Given the description of an element on the screen output the (x, y) to click on. 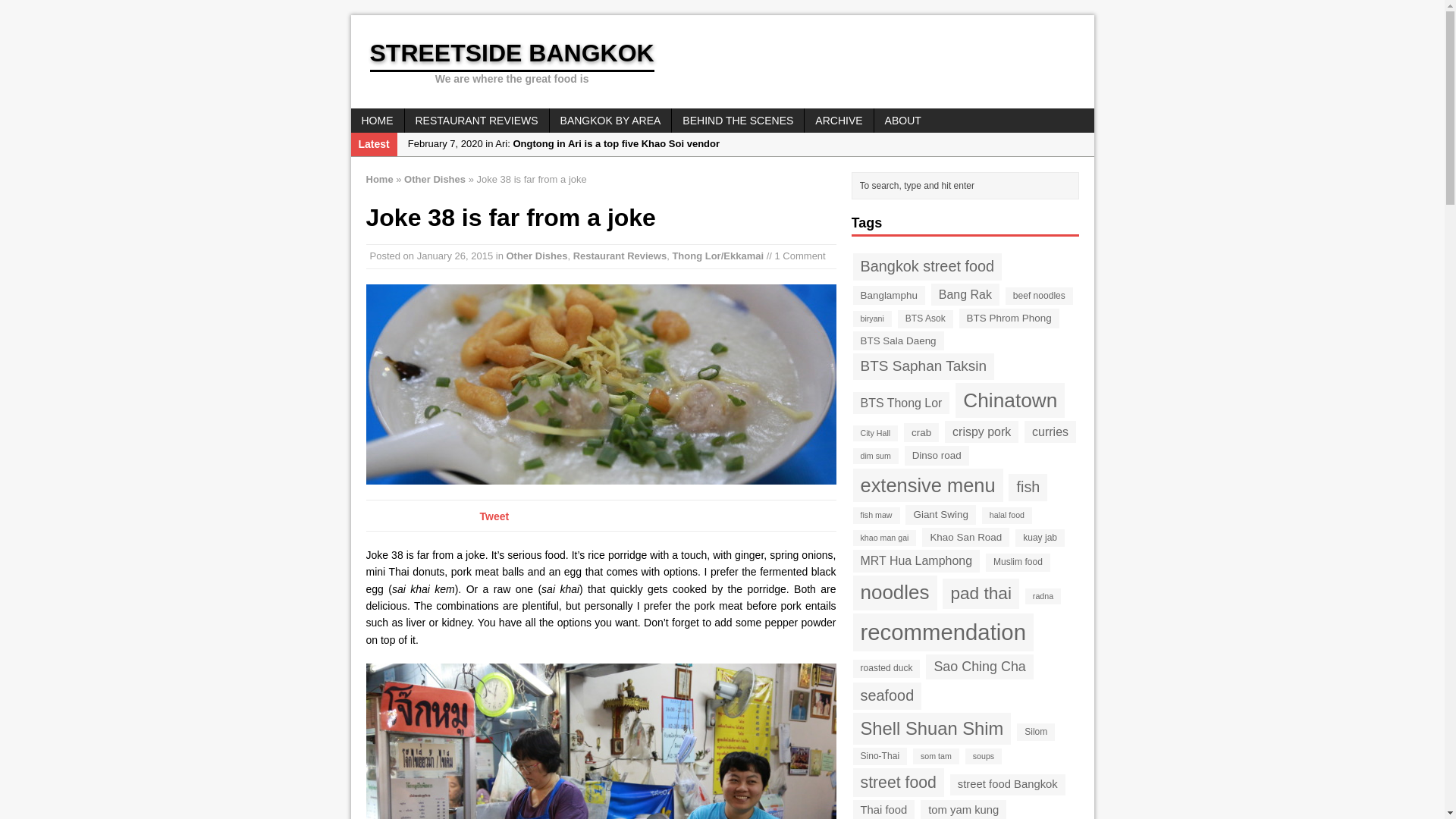
Ongtong in Ari is a top five Khao Soi vendor (745, 143)
To search, type and hit enter (968, 185)
Streetside Bangkok (721, 61)
3E6B8470 (600, 384)
